Given the description of an element on the screen output the (x, y) to click on. 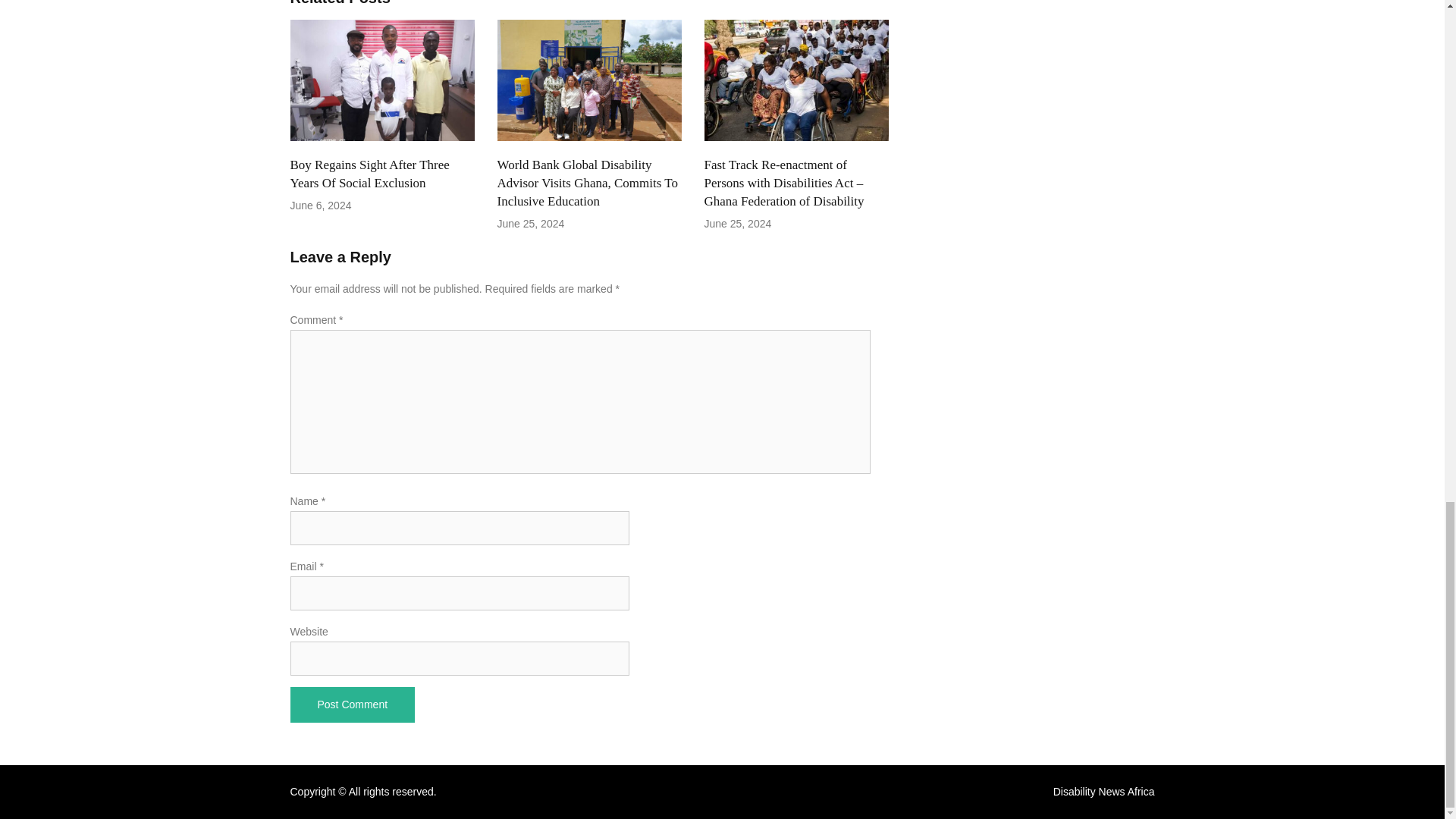
Post Comment (351, 704)
Boy Regains Sight After Three Years Of Social Exclusion   (368, 174)
